Given the description of an element on the screen output the (x, y) to click on. 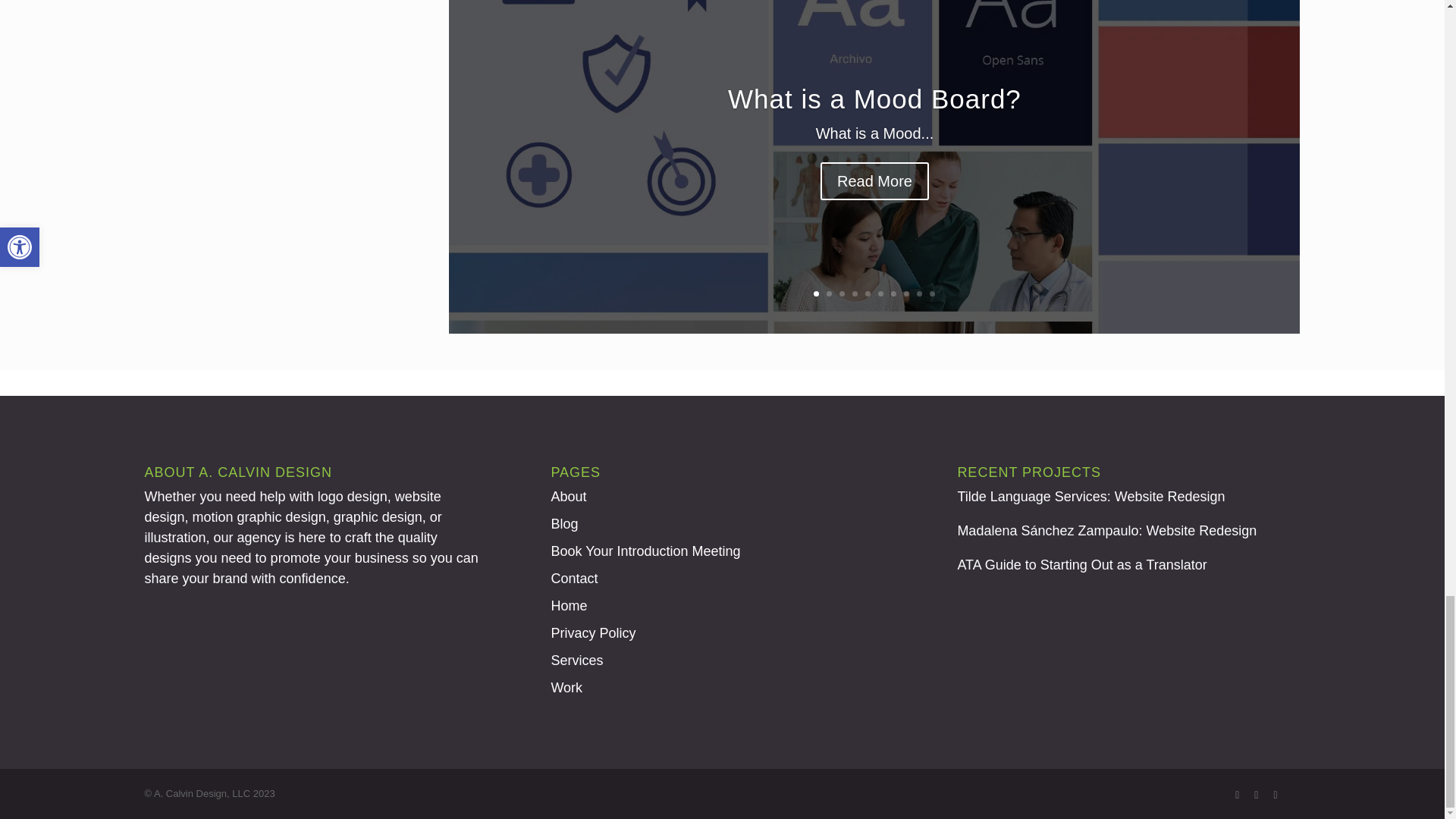
What is a Mood Board? (875, 129)
Read More (874, 209)
